Given the description of an element on the screen output the (x, y) to click on. 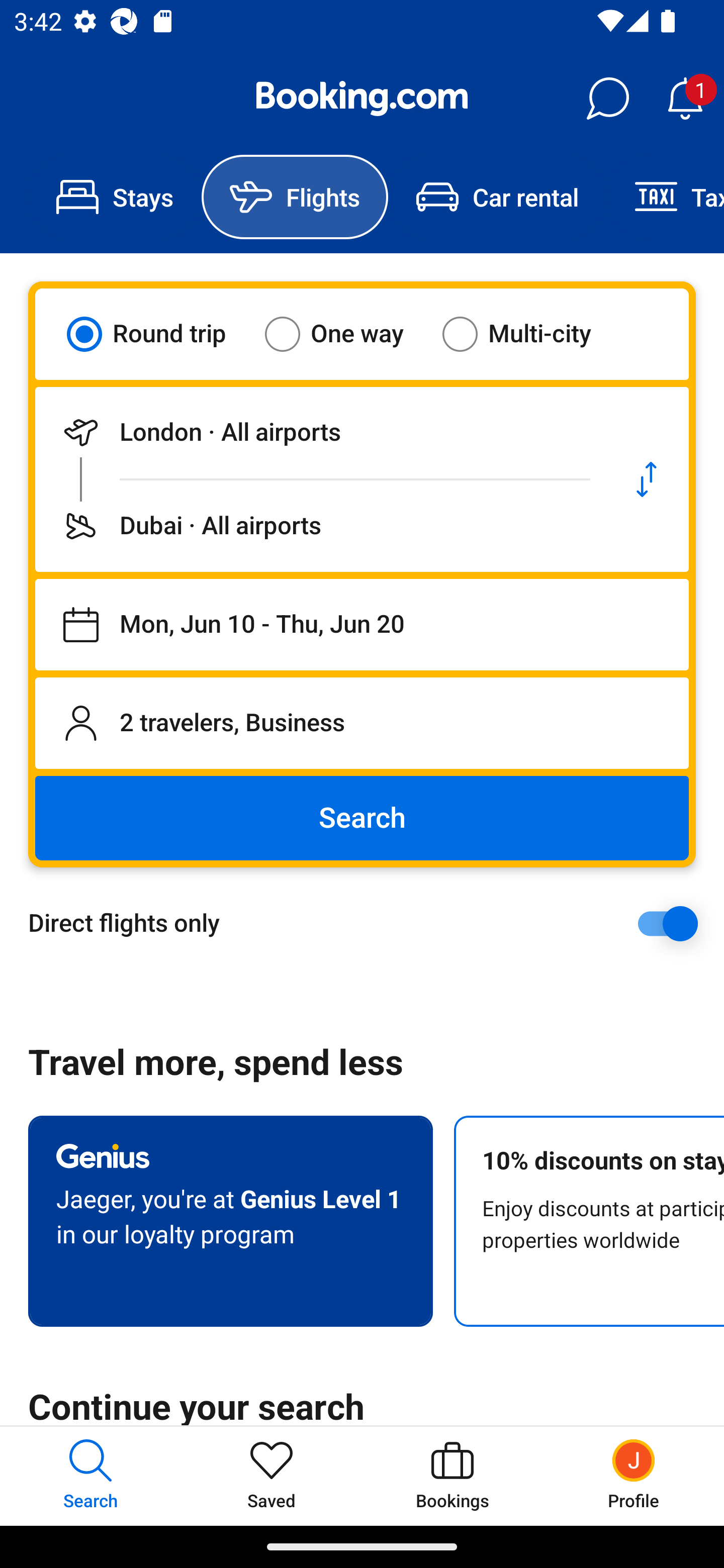
Messages (607, 98)
Notifications (685, 98)
Stays (114, 197)
Flights (294, 197)
Car rental (497, 197)
Taxi (665, 197)
One way (346, 333)
Multi-city (528, 333)
Departing from London · All airports (319, 432)
Swap departure location and destination (646, 479)
Flying to Dubai · All airports (319, 525)
Departing on Mon, Jun 10, returning on Thu, Jun 20 (361, 624)
2 travelers, Business (361, 722)
Search (361, 818)
Direct flights only (369, 923)
Saved (271, 1475)
Bookings (452, 1475)
Profile (633, 1475)
